Given the description of an element on the screen output the (x, y) to click on. 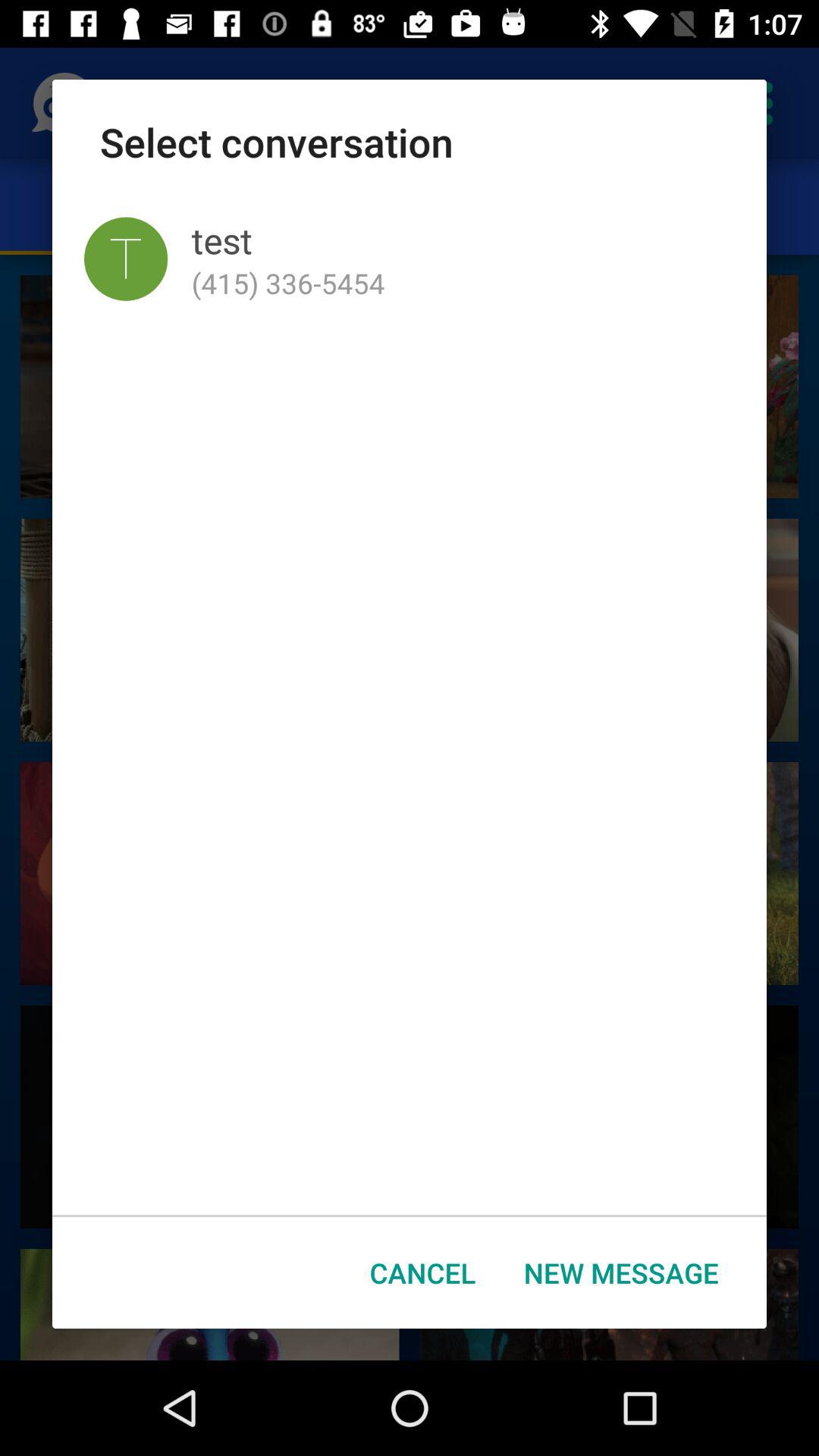
click the icon to the right of the cancel (620, 1272)
